Given the description of an element on the screen output the (x, y) to click on. 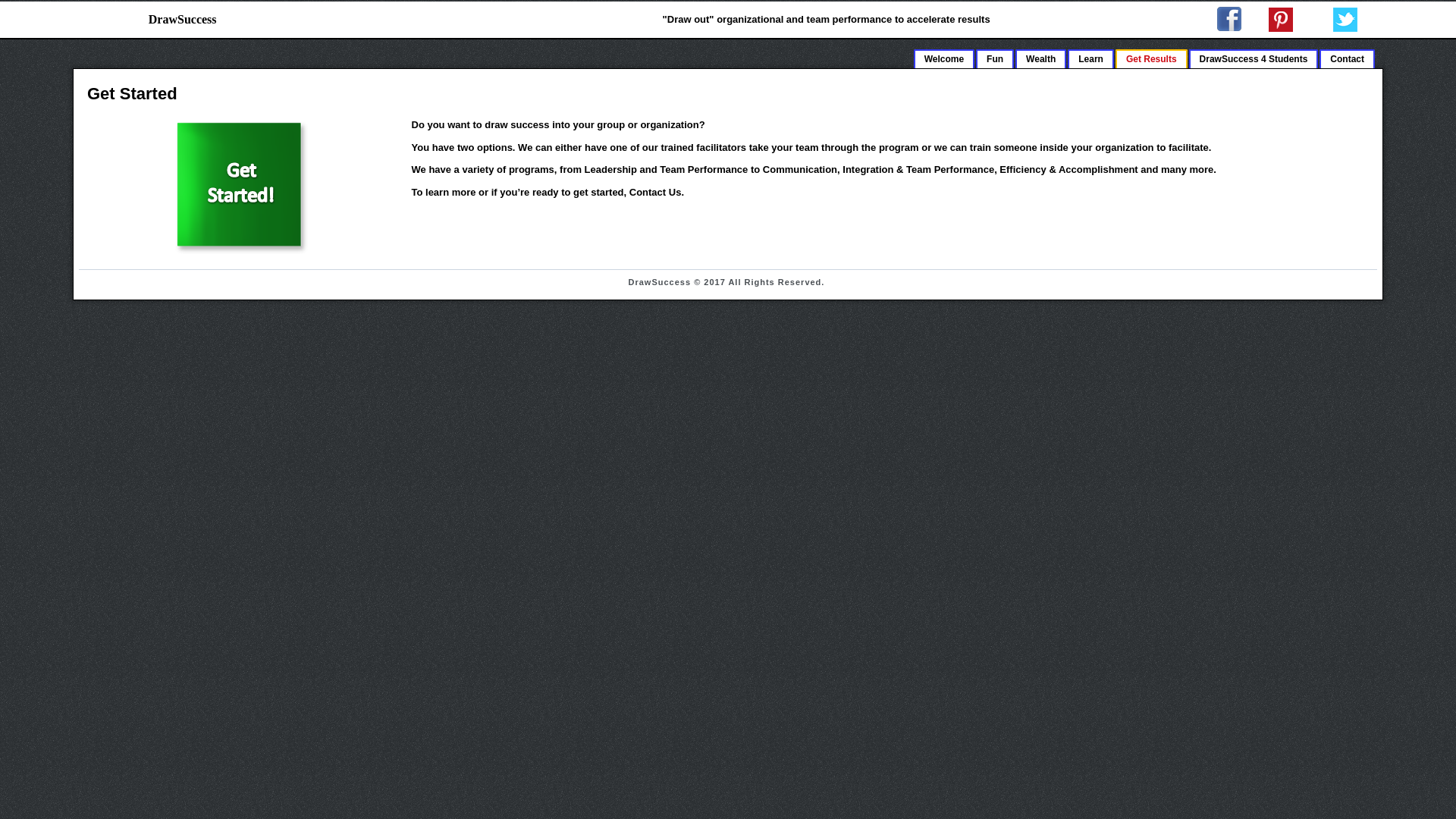
Learn (1090, 58)
Get Results (1151, 58)
Wealth (1039, 58)
Welcome (944, 58)
Fun (994, 58)
Learn (1090, 58)
Wealth (1039, 58)
Fun (994, 58)
DrawSuccess 4 Students (1254, 58)
Contact (1346, 58)
Welcome (944, 58)
